Given the description of an element on the screen output the (x, y) to click on. 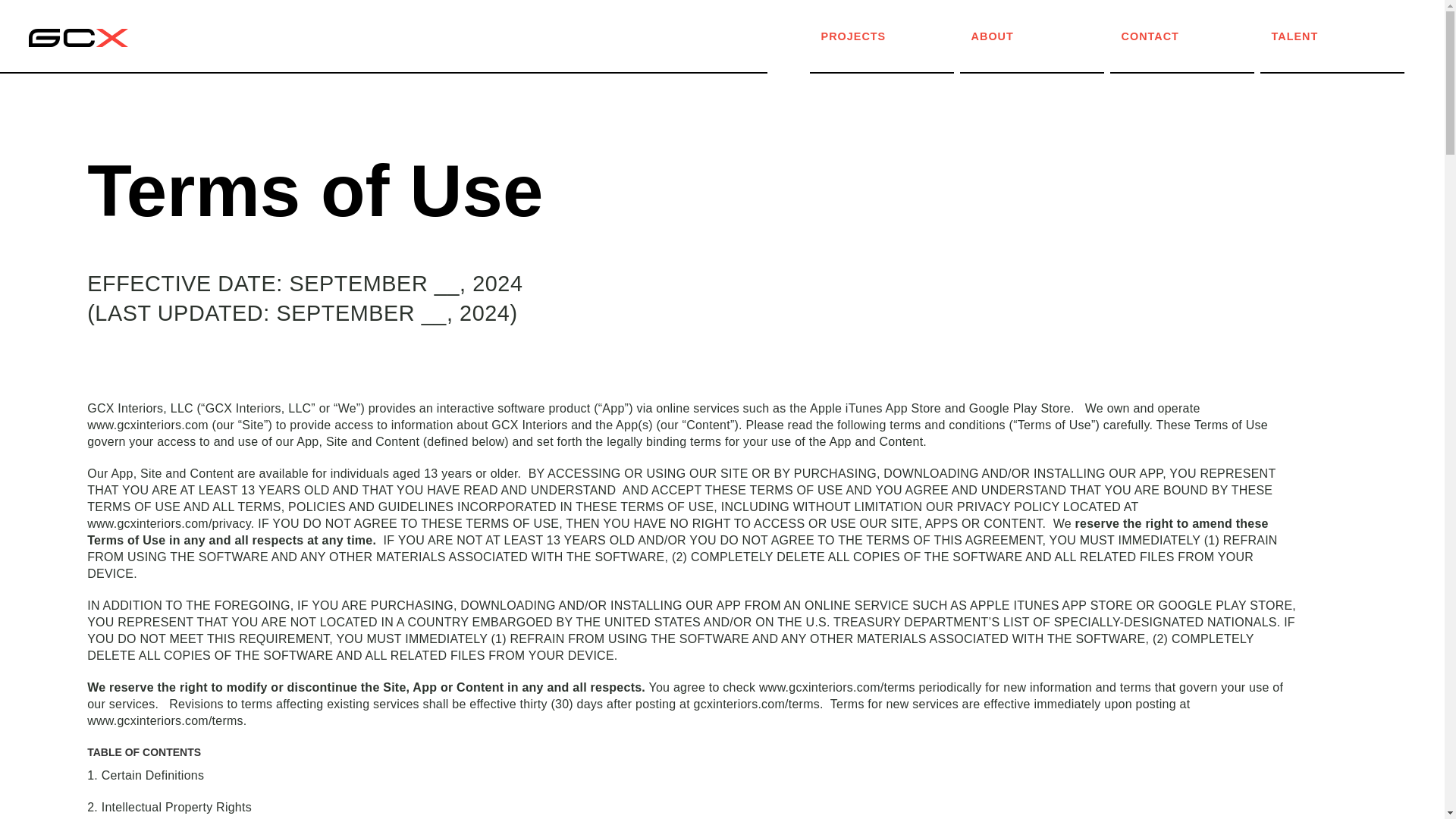
ABOUT (1042, 37)
TALENT (1342, 37)
PROJECTS (892, 37)
CONTACT (1192, 37)
